Given the description of an element on the screen output the (x, y) to click on. 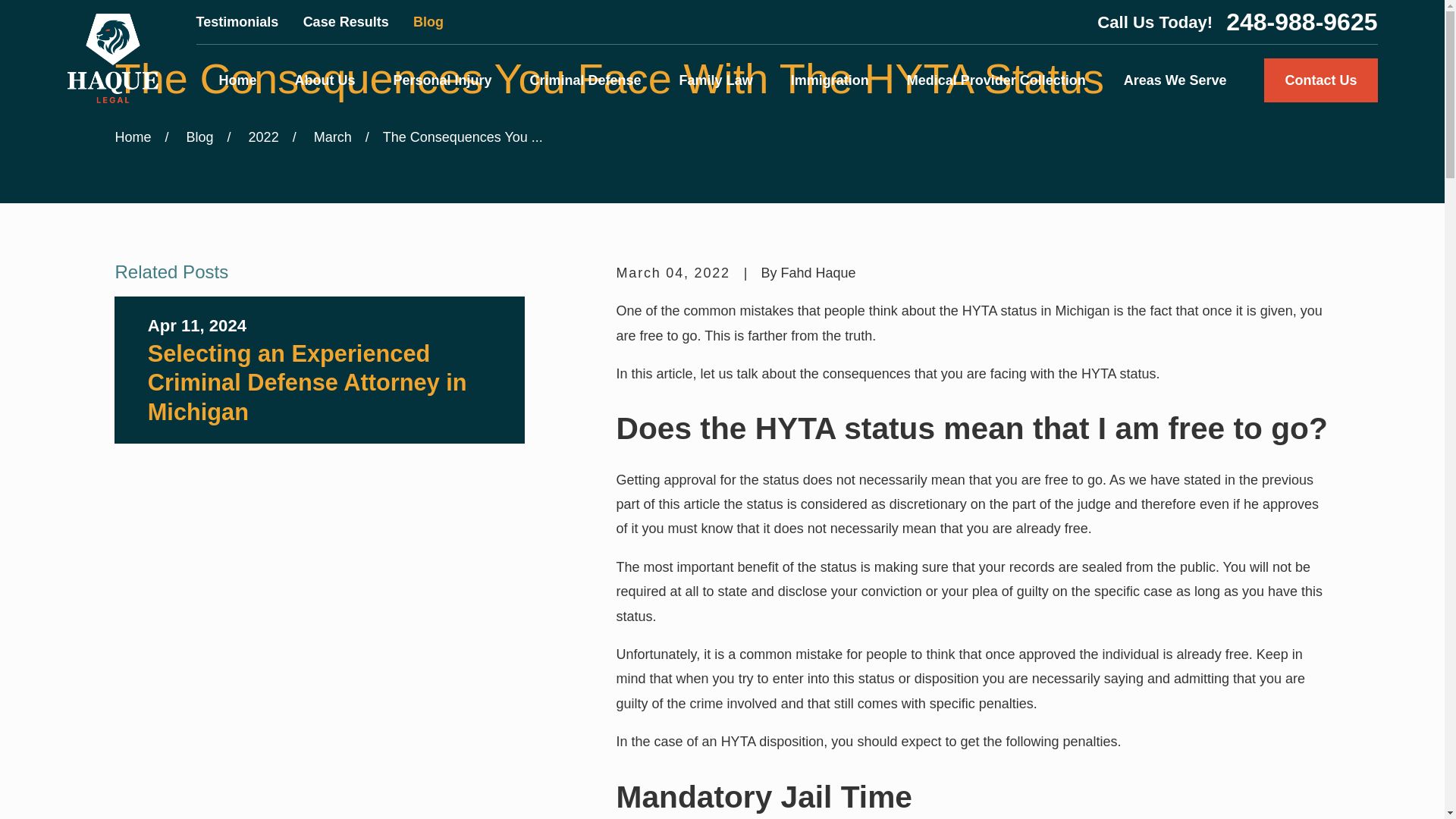
About Us (324, 80)
Personal Injury (442, 80)
Blog (428, 21)
Case Results (345, 21)
Go Home (133, 136)
Family Law (715, 80)
Home (237, 80)
Criminal Defense (585, 80)
Haque Legal (111, 58)
Testimonials (237, 21)
248-988-9625 (1301, 21)
Home (111, 58)
